Given the description of an element on the screen output the (x, y) to click on. 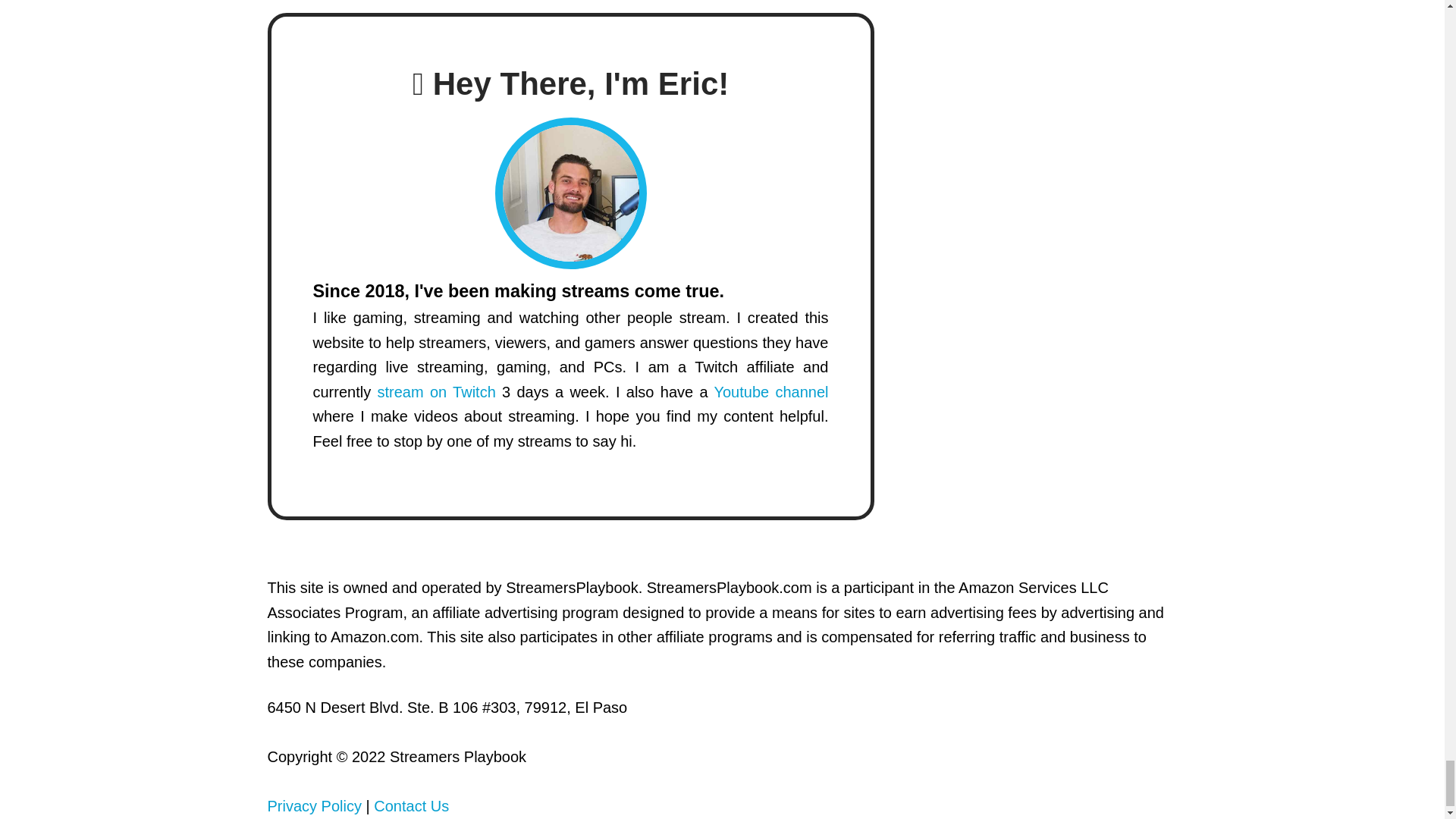
Youtube channel (770, 392)
Privacy Policy (313, 805)
Contact Us (411, 805)
stream on Twitch (436, 392)
